Given the description of an element on the screen output the (x, y) to click on. 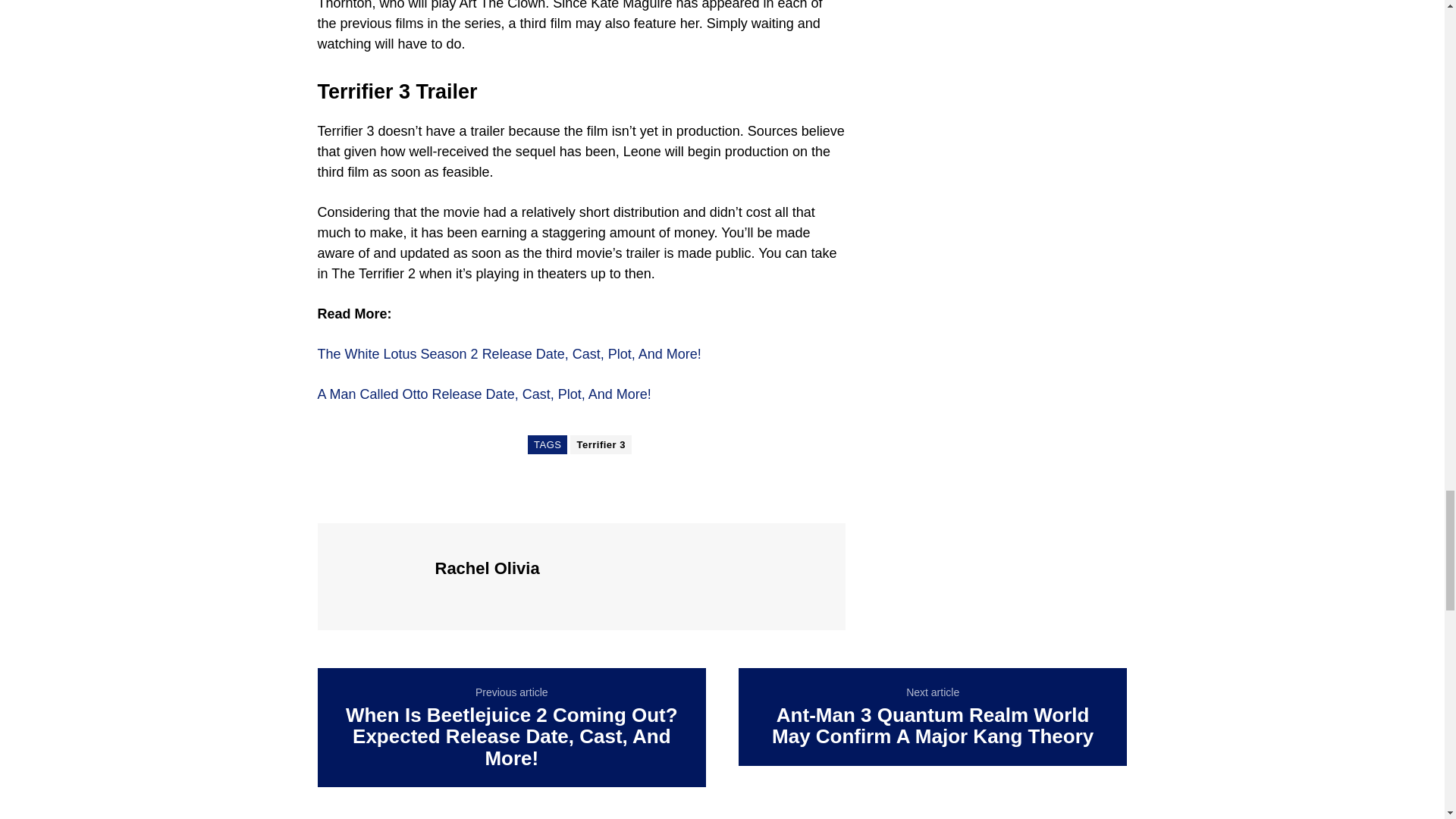
The White Lotus Season 2 Release Date, Cast, Plot, And More! (508, 353)
Terrifier 3 (600, 444)
A Man Called Otto Release Date, Cast, Plot, And More! (483, 394)
